Given the description of an element on the screen output the (x, y) to click on. 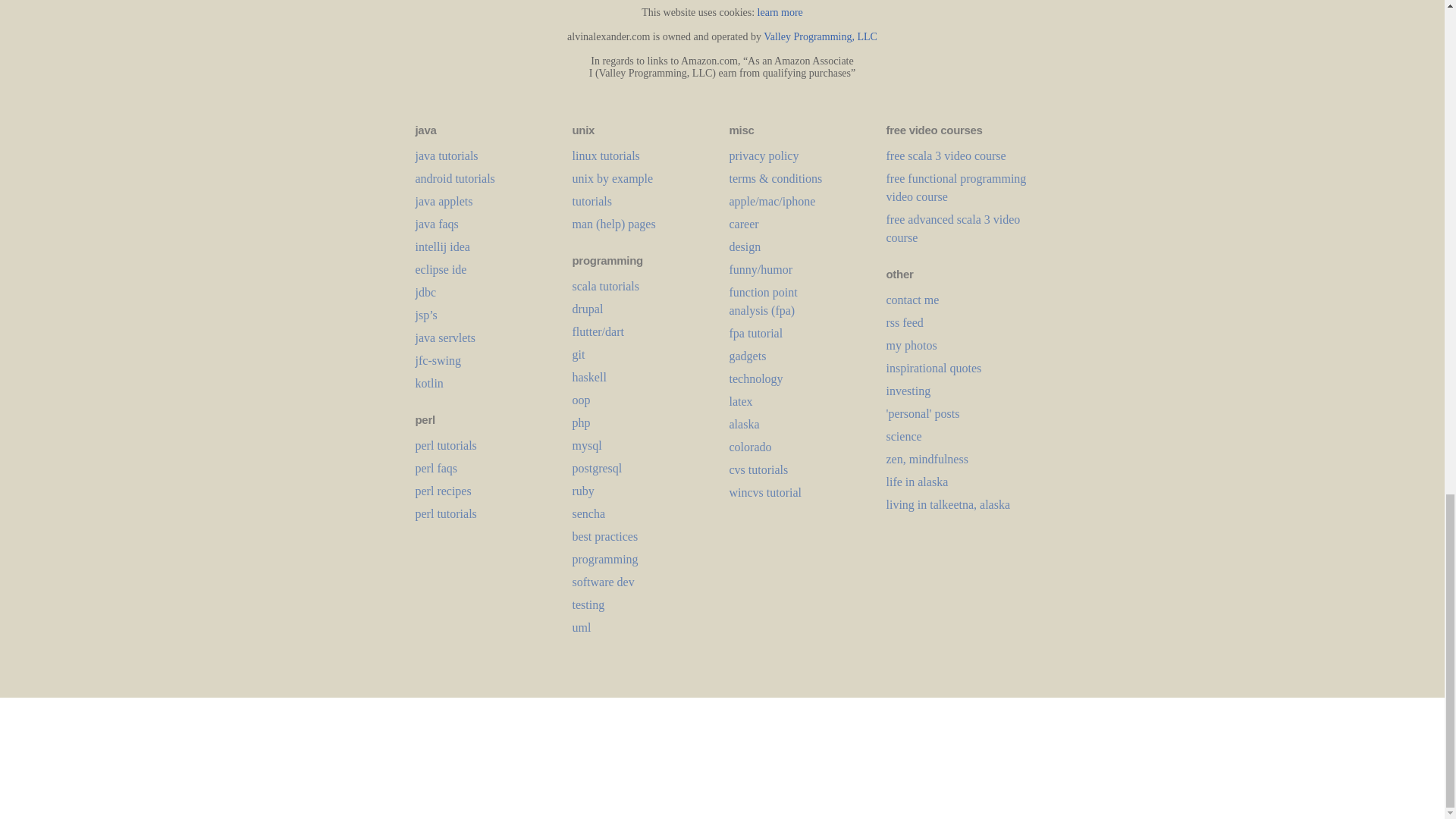
Valley Programming, LLC (819, 36)
rss feed (904, 322)
my photo galley (910, 345)
learn more (780, 12)
mobile site (912, 299)
Free functional programming video training course (955, 187)
a blog about living in alaska (916, 481)
living in talkeetna, alaska (947, 504)
Free Advanced Scala 3 video training course (952, 228)
Free Scala 3 online video training course (945, 155)
